Given the description of an element on the screen output the (x, y) to click on. 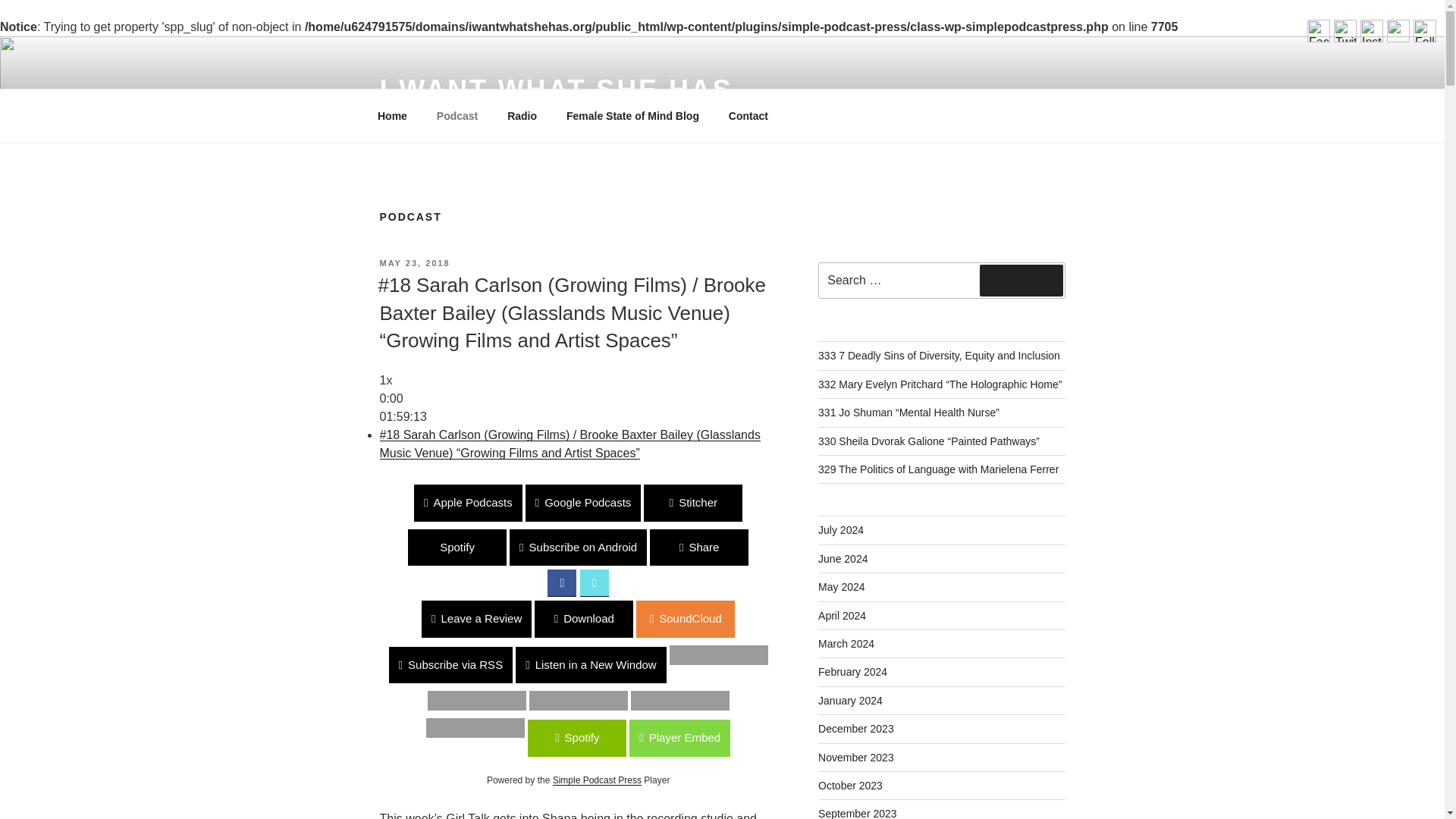
Radio (522, 115)
Share on Facebook (561, 583)
SoundCloud (49, 619)
Stitcher (49, 502)
Simple Podcast Press (597, 779)
Google Podcasts (583, 502)
Spotify (456, 547)
I WANT WHAT SHE HAS (555, 89)
Subscribe on Android (577, 547)
Player Embed (50, 737)
Podcast (456, 115)
Spotify (49, 737)
Share (698, 547)
Share on Twitter (593, 583)
Apple Podcasts (467, 502)
